Given the description of an element on the screen output the (x, y) to click on. 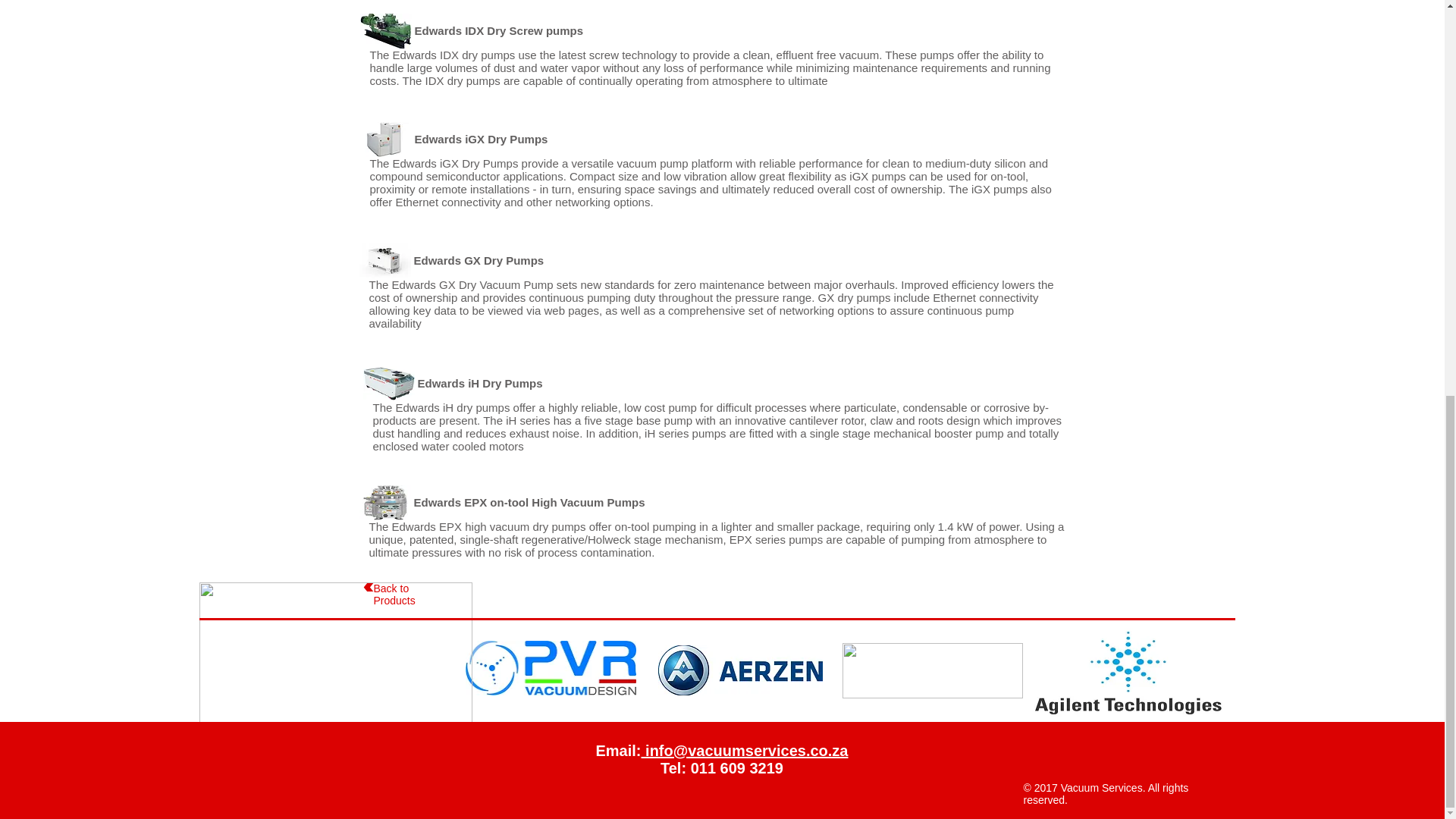
Back to Products (393, 594)
